Given the description of an element on the screen output the (x, y) to click on. 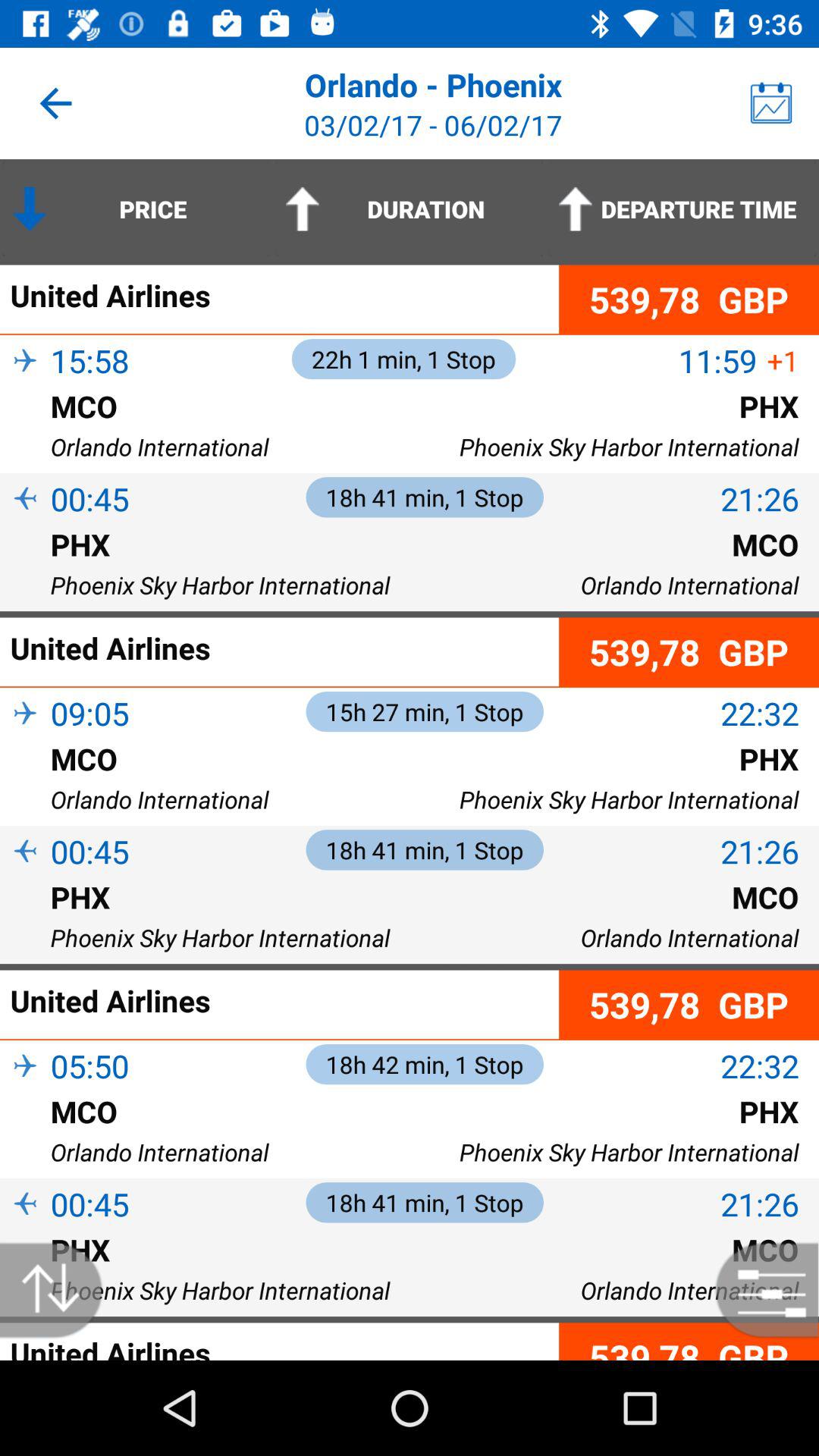
launch item to the left of the mco (25, 1135)
